Given the description of an element on the screen output the (x, y) to click on. 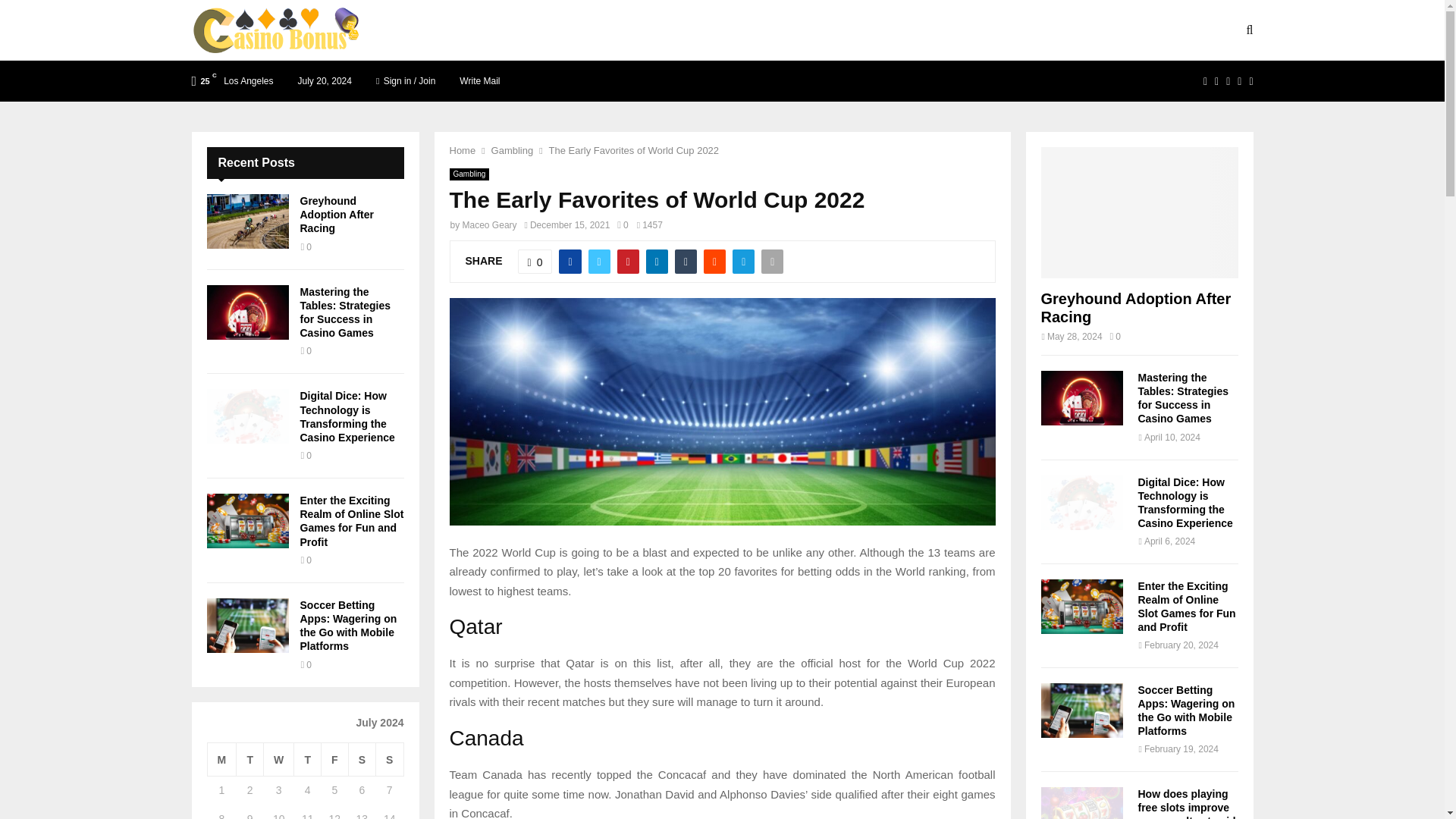
Maceo Geary (489, 225)
CARD GAME (639, 30)
Sign up new account (722, 531)
Gambling (468, 174)
Like (535, 261)
0 (535, 261)
Login to your account (722, 328)
BLACKJACK (550, 30)
GAMBLING (723, 30)
Home (462, 150)
ONLINE CASINO (818, 30)
The Early Favorites of World Cup 2022 (633, 150)
Write Mail (479, 80)
0 (622, 225)
Gambling (513, 150)
